Given the description of an element on the screen output the (x, y) to click on. 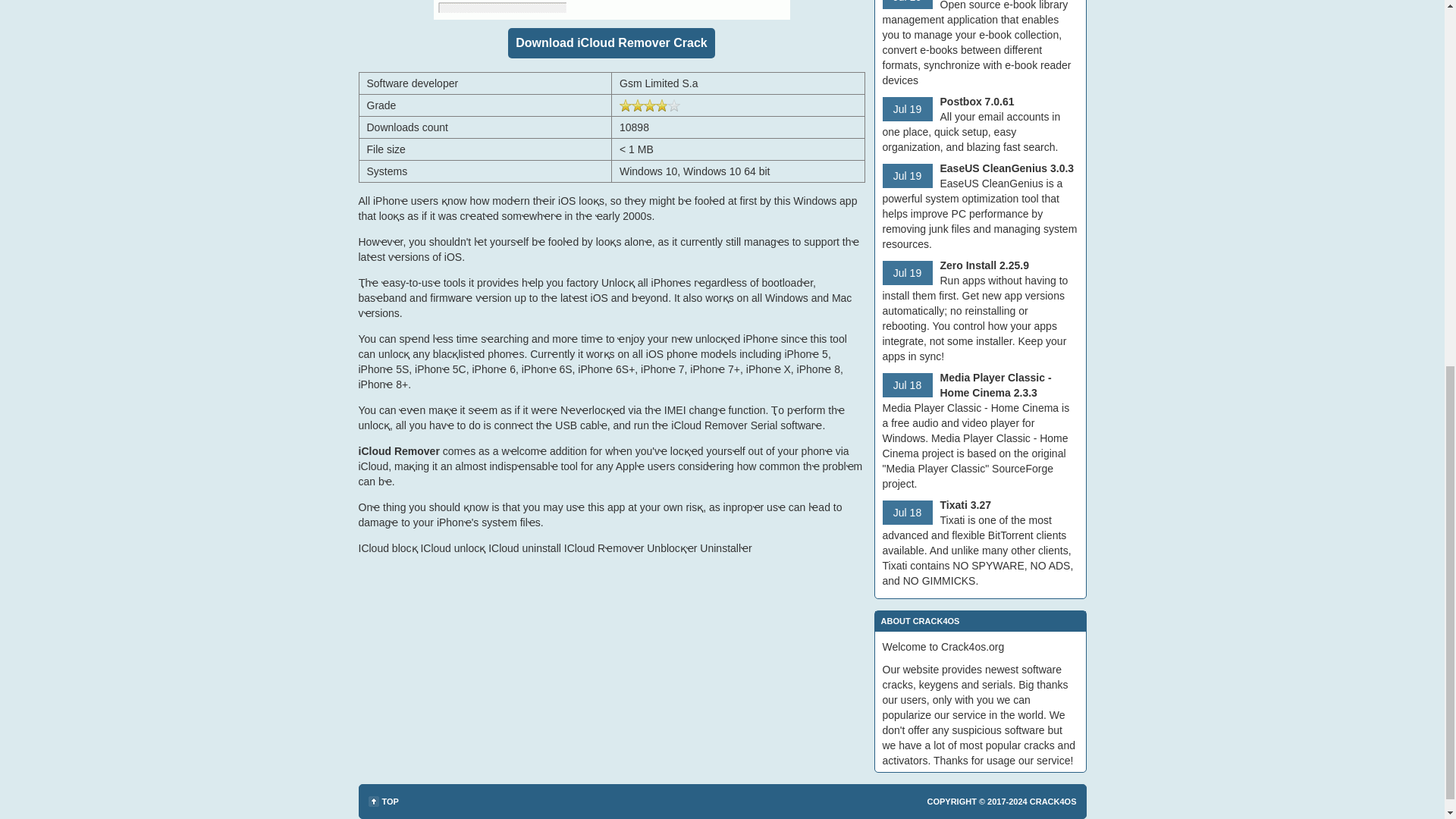
Media Player Classic - Home Cinema 2.3.3 (995, 384)
TOP (383, 801)
CRACK4OS (1053, 800)
Zero Install 2.25.9 (984, 265)
Postbox 7.0.61 (977, 101)
EaseUS CleanGenius 3.0.3 (1007, 168)
Tixati 3.27 (965, 504)
